Given the description of an element on the screen output the (x, y) to click on. 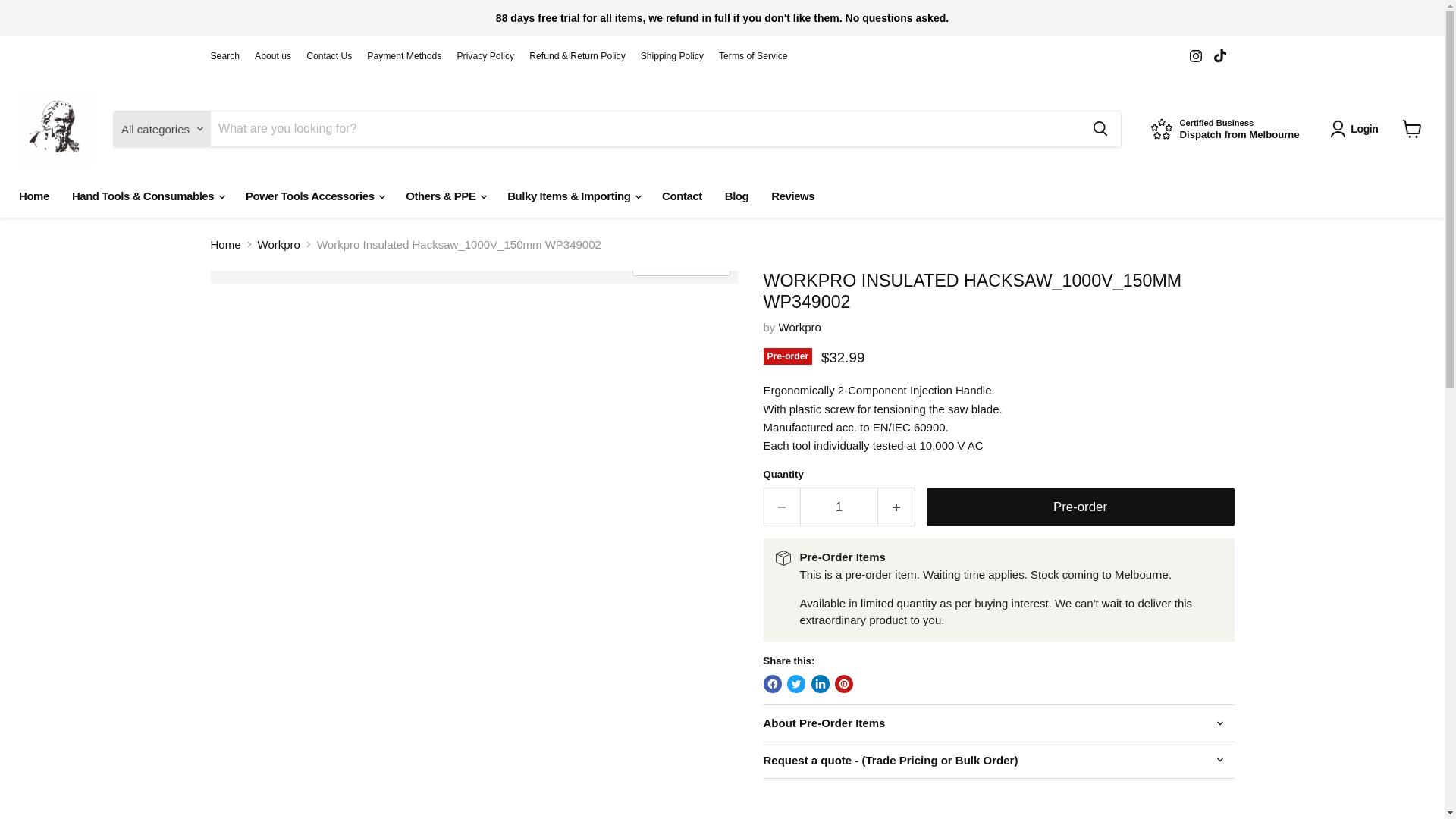
Search (1225, 129)
About us (225, 55)
Find us on Instagram (272, 55)
Payment Methods (1196, 55)
Instagram (403, 55)
1 (1196, 55)
Shipping Policy (838, 506)
Find us on TikTok (671, 55)
Contact Us (1219, 55)
Workpro (328, 55)
Login (799, 327)
Home (1357, 128)
Terms of Service (34, 195)
Privacy Policy (753, 55)
